Given the description of an element on the screen output the (x, y) to click on. 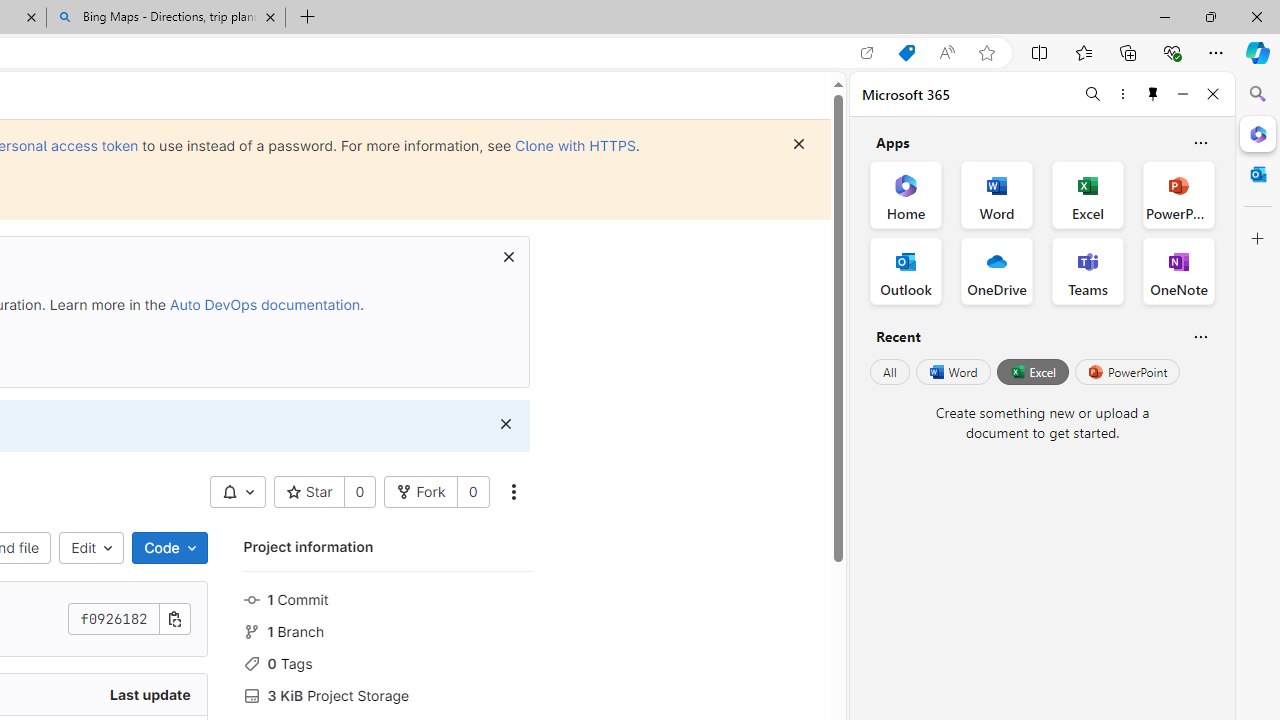
Word Office App (996, 194)
Dismiss (505, 423)
Word (952, 372)
3 KiB Project Storage (387, 693)
0 Tags (387, 662)
Code (169, 547)
PowerPoint (1127, 372)
Edit (91, 547)
Clone with HTTPS (575, 145)
1 Commit (387, 597)
More actions (512, 491)
Excel (1031, 372)
